Given the description of an element on the screen output the (x, y) to click on. 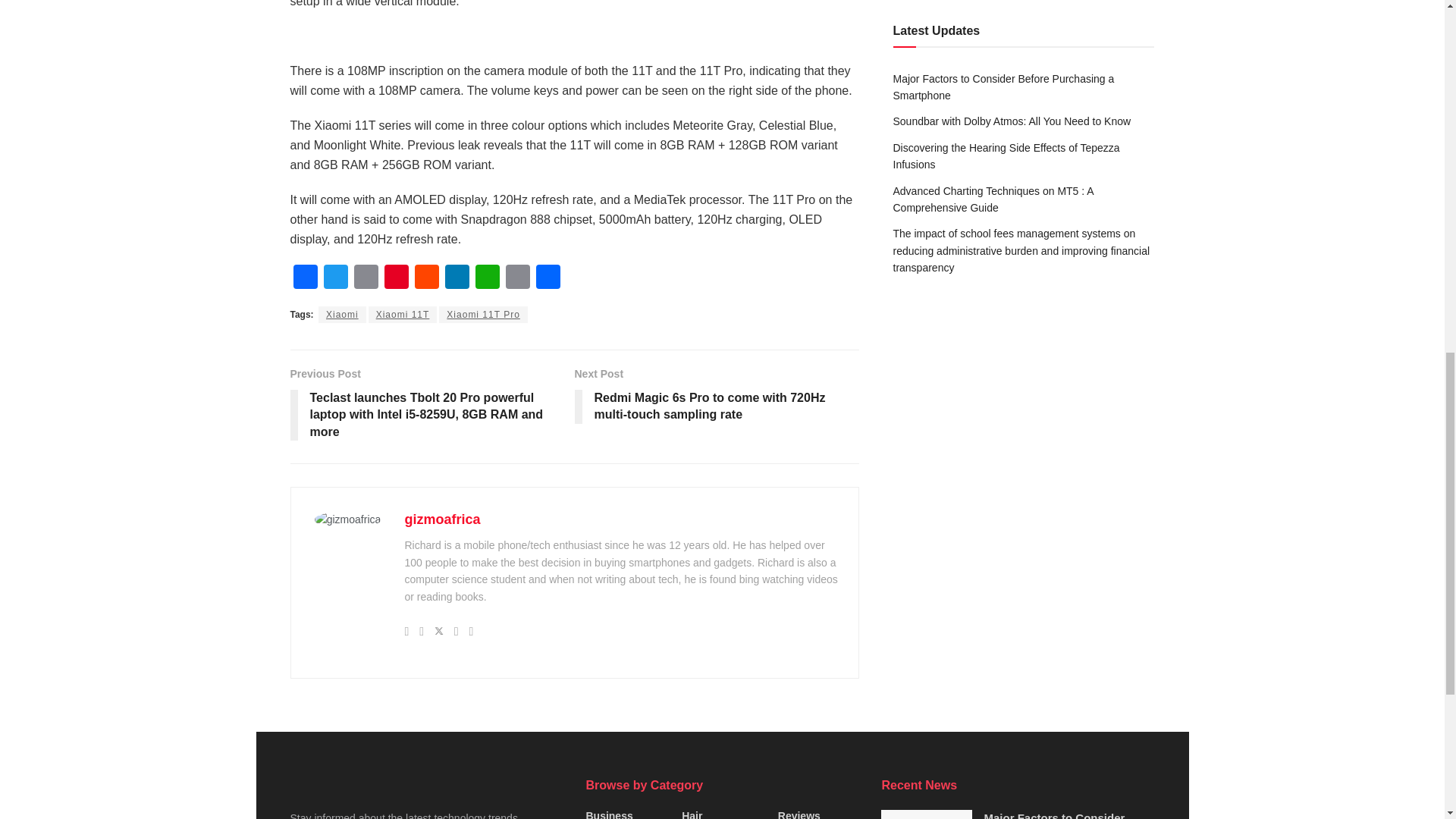
Twitter (335, 278)
Email (365, 278)
Reddit (425, 278)
Email (365, 278)
Copy Link (517, 278)
LinkedIn (456, 278)
Twitter (335, 278)
Facebook (304, 278)
Facebook (304, 278)
LinkedIn (456, 278)
Copy Link (517, 278)
Pinterest (395, 278)
Reddit (425, 278)
Pinterest (395, 278)
WhatsApp (486, 278)
